Given the description of an element on the screen output the (x, y) to click on. 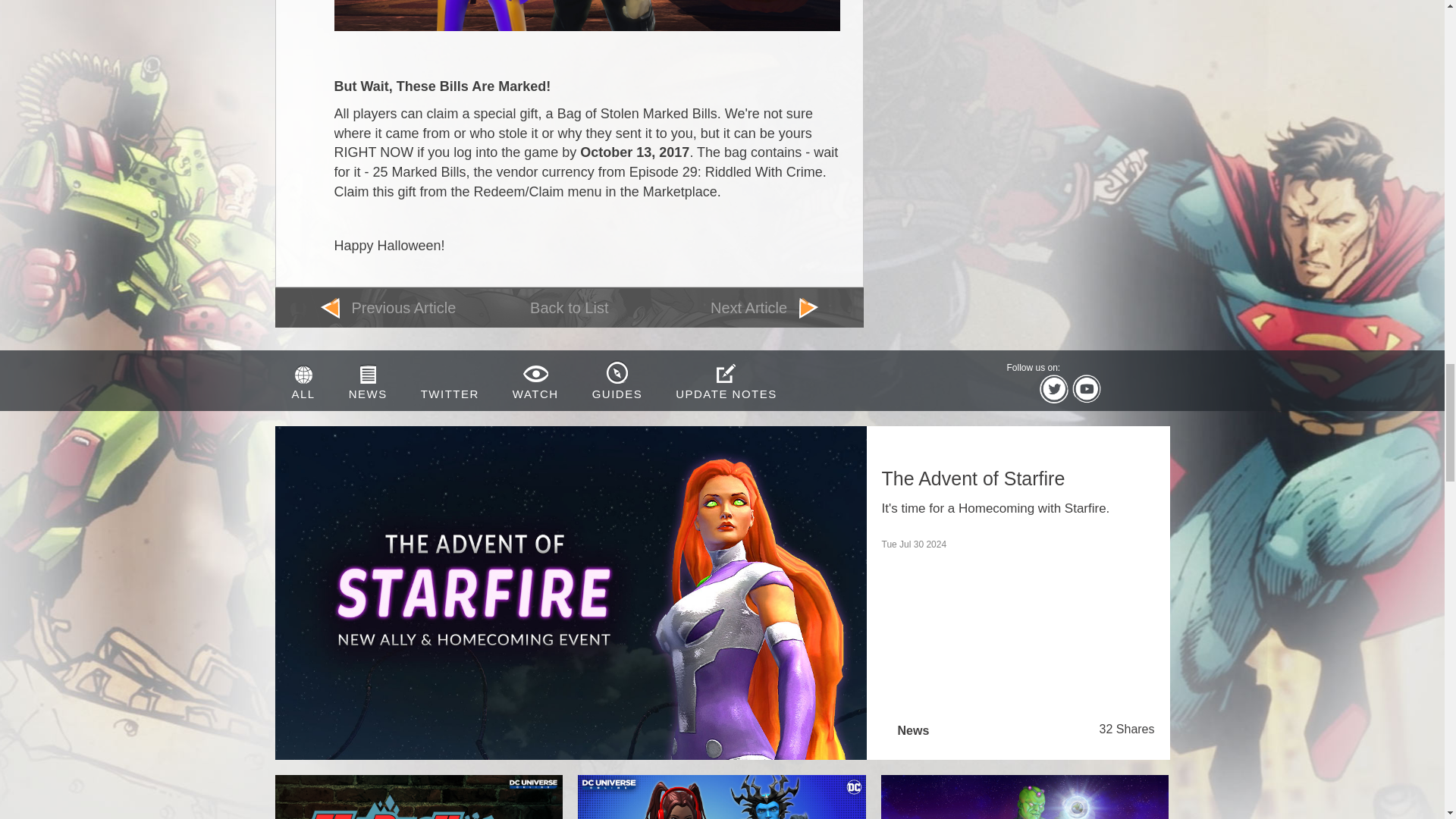
Back to List (569, 308)
It's time for a Homecoming with Starfire. (1017, 508)
Next Article (733, 308)
Previous Article (404, 308)
